Given the description of an element on the screen output the (x, y) to click on. 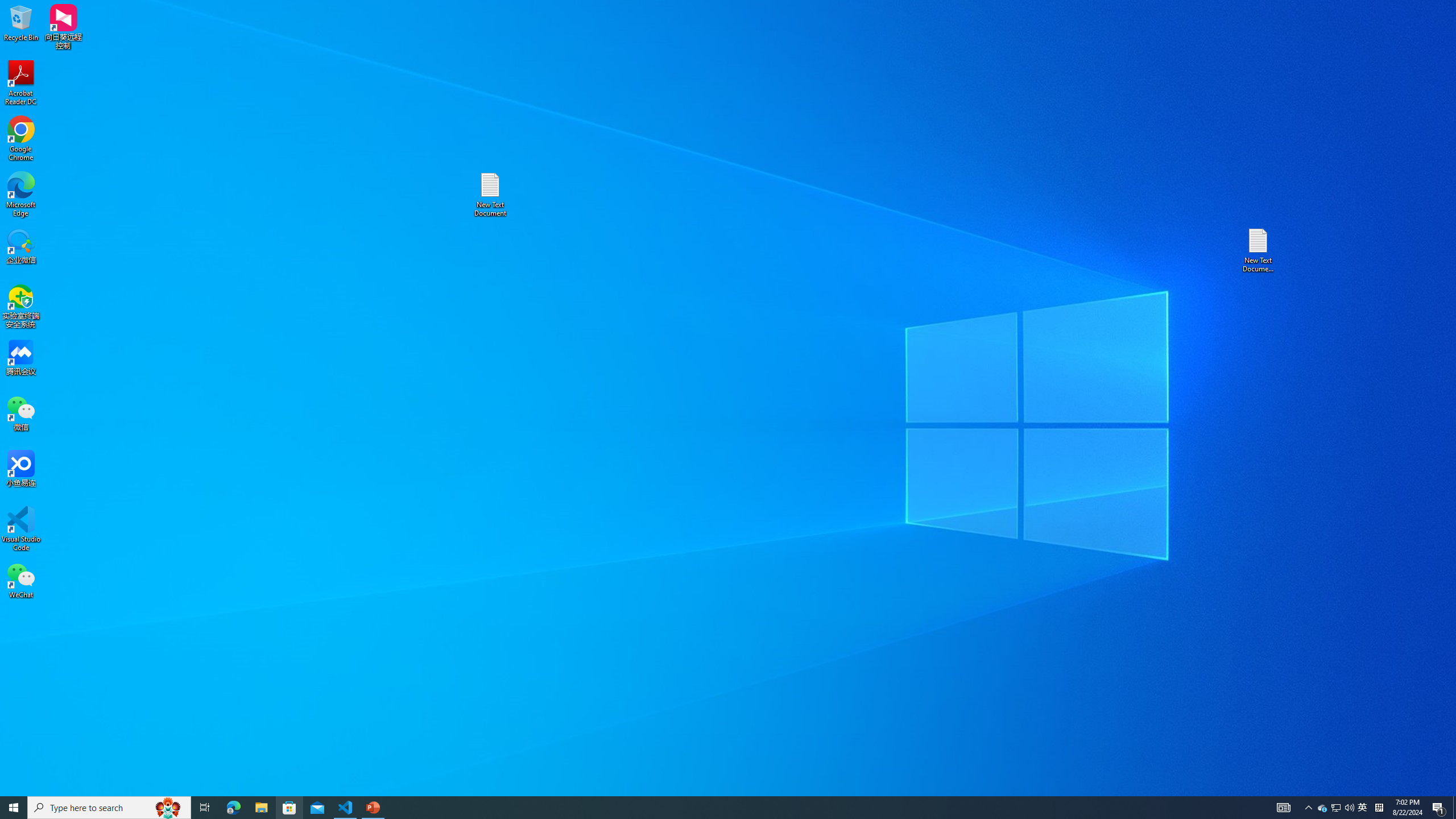
Microsoft Edge (21, 194)
